Given the description of an element on the screen output the (x, y) to click on. 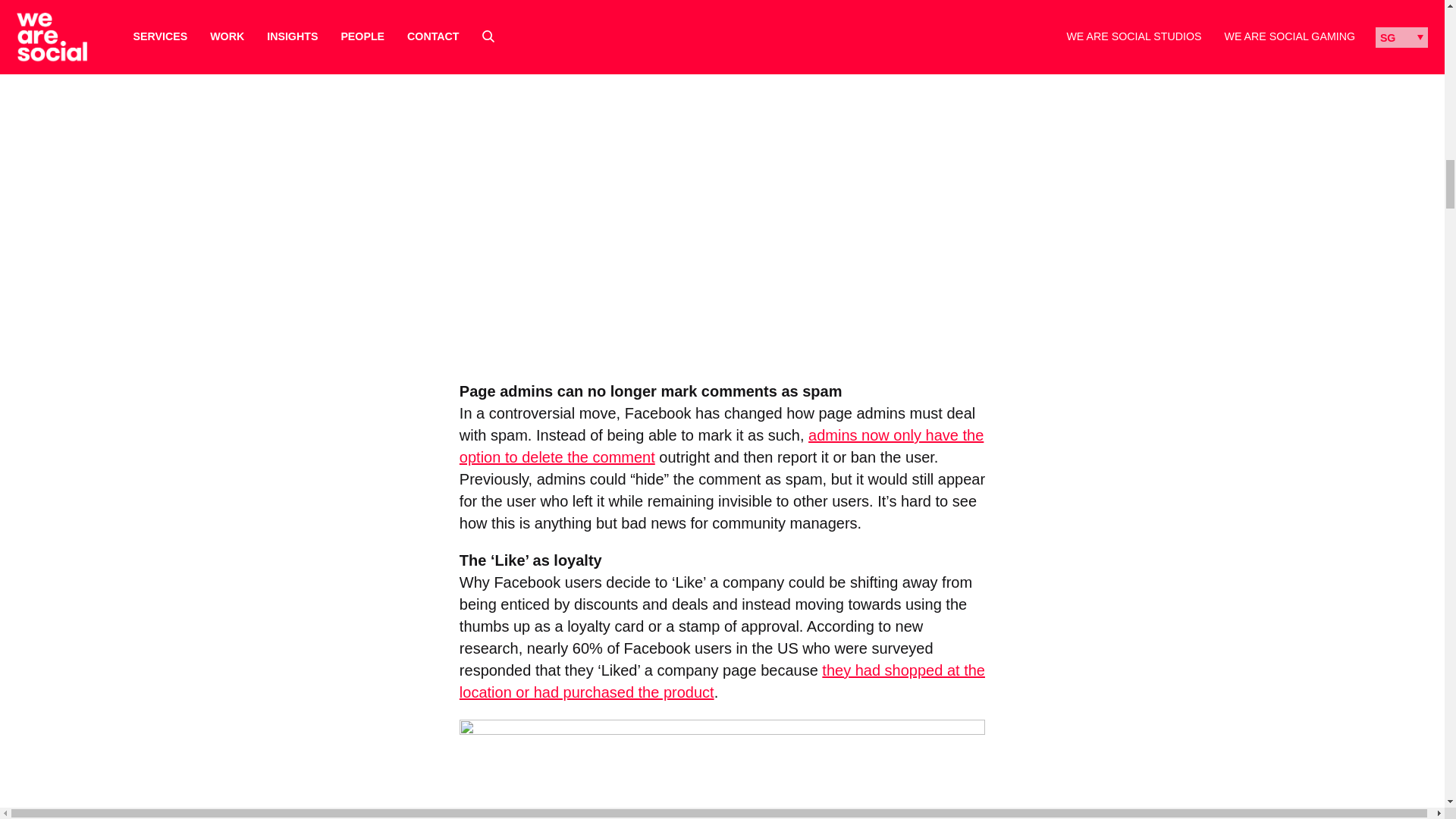
admins now only have the option to delete the comment (722, 446)
Reasons Social Network Users Like a Company (722, 769)
